Given the description of an element on the screen output the (x, y) to click on. 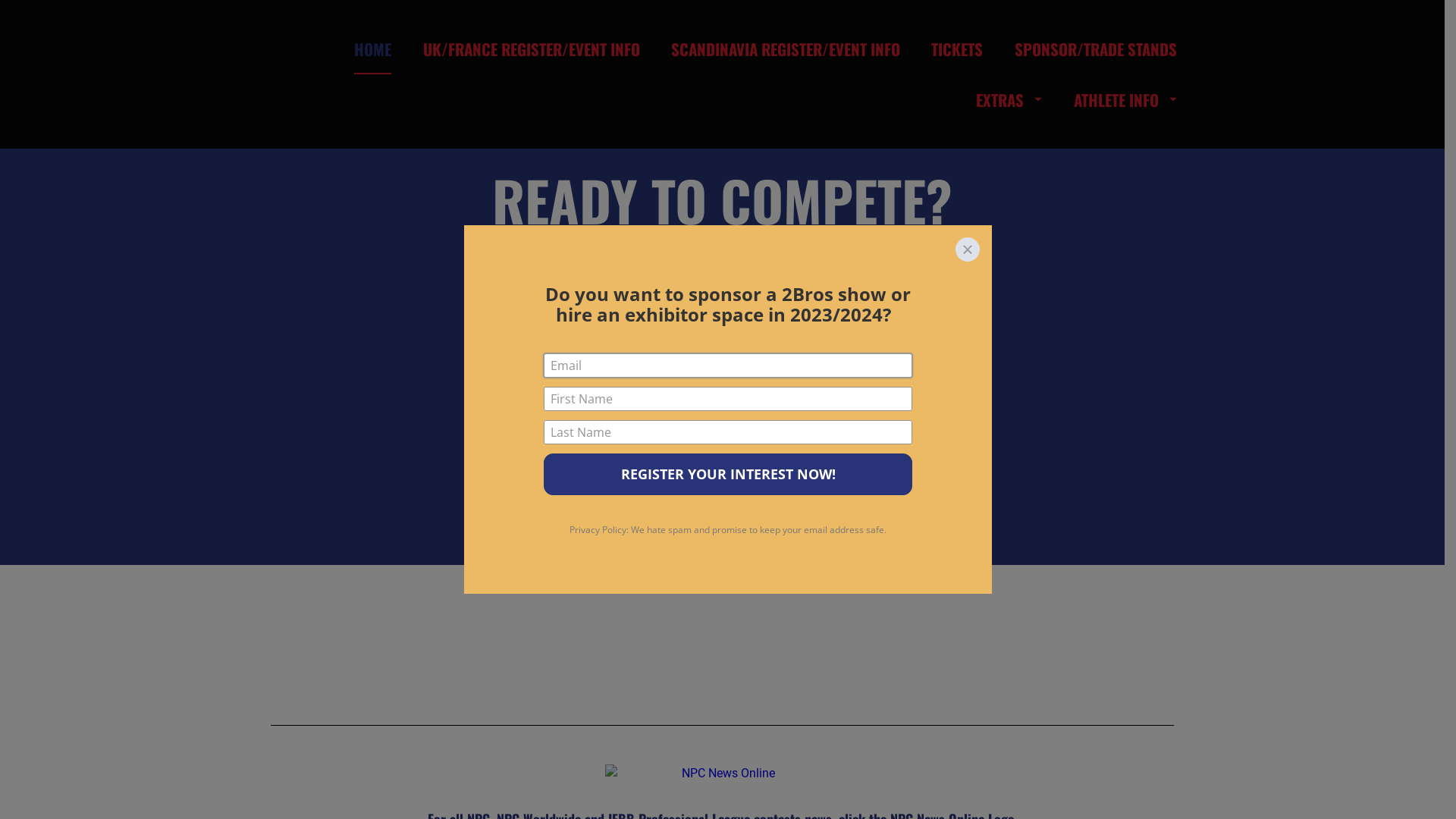
TICKETS Element type: text (956, 48)
CLICK TO REGISTER FOR UK SHOW DATES Element type: text (721, 269)
CLICK TO REGISTER FOR SCANDINAVIA SHOW DATES Element type: text (722, 326)
EXTRAS Element type: text (1008, 99)
ATHLETE INFO Element type: text (1124, 99)
SCANDINAVIA REGISTER/EVENT INFO Element type: text (785, 48)
UK/FRANCE REGISTER/EVENT INFO Element type: text (531, 48)
HOME Element type: text (372, 48)
SPONSOR/TRADE STANDS Element type: text (1095, 48)
CLICK TO REGISTER FOR FRANCE SHOW DATES Element type: text (722, 382)
